Given the description of an element on the screen output the (x, y) to click on. 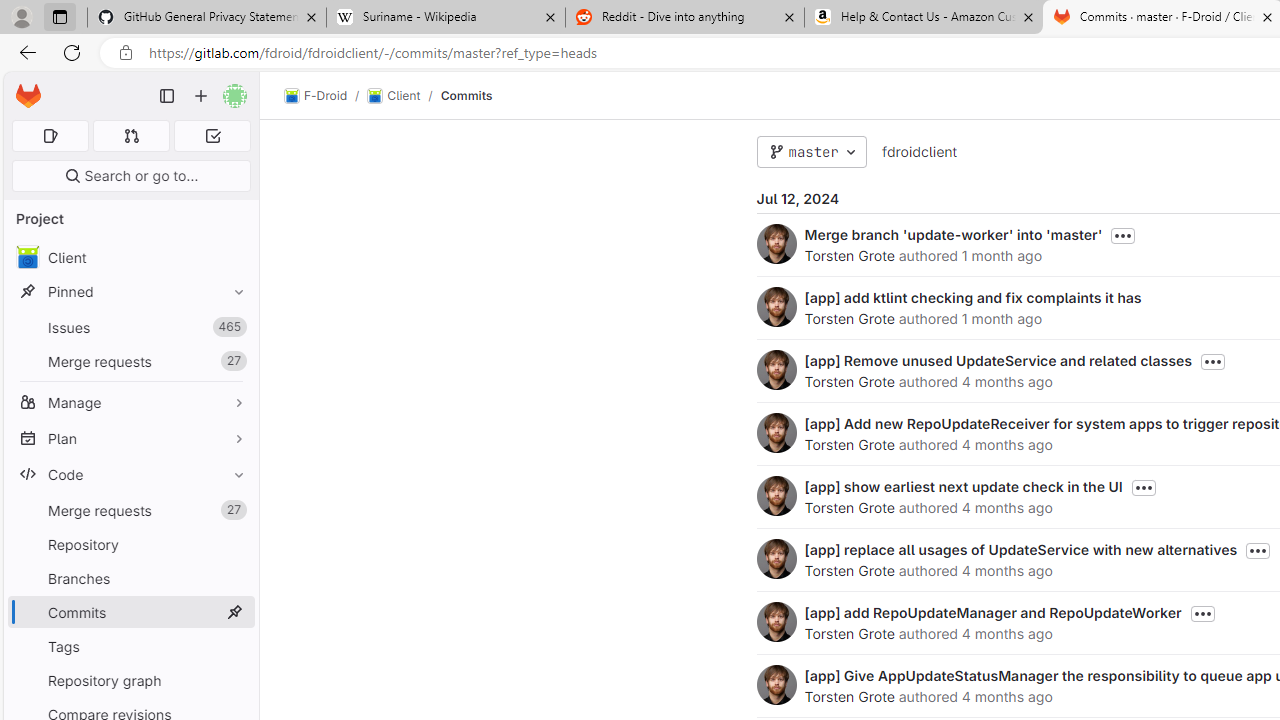
Suriname - Wikipedia (445, 17)
Branches (130, 578)
Repository (130, 543)
Class: s16 gl-icon gl-button-icon  (1202, 614)
Assigned issues 0 (50, 136)
avatar (27, 257)
master (811, 151)
Pin Branches (234, 578)
Skip to main content (23, 87)
Tags (130, 646)
Pin Repository (234, 544)
Manage (130, 402)
Repository (130, 543)
Create new... (201, 96)
